Given the description of an element on the screen output the (x, y) to click on. 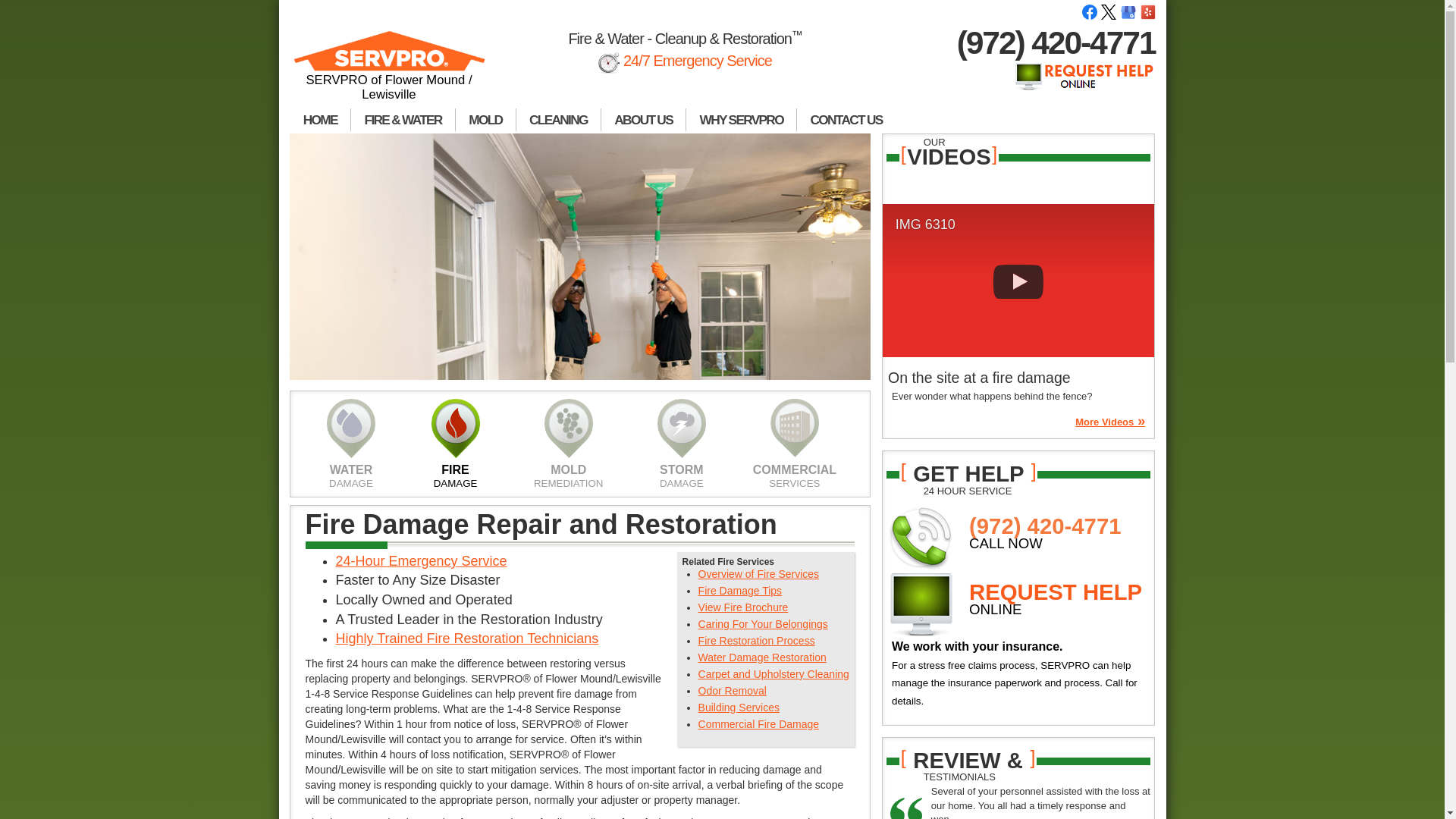
MOLD (485, 120)
CLEANING (558, 120)
HOME (319, 120)
ABOUT US (643, 120)
